Given the description of an element on the screen output the (x, y) to click on. 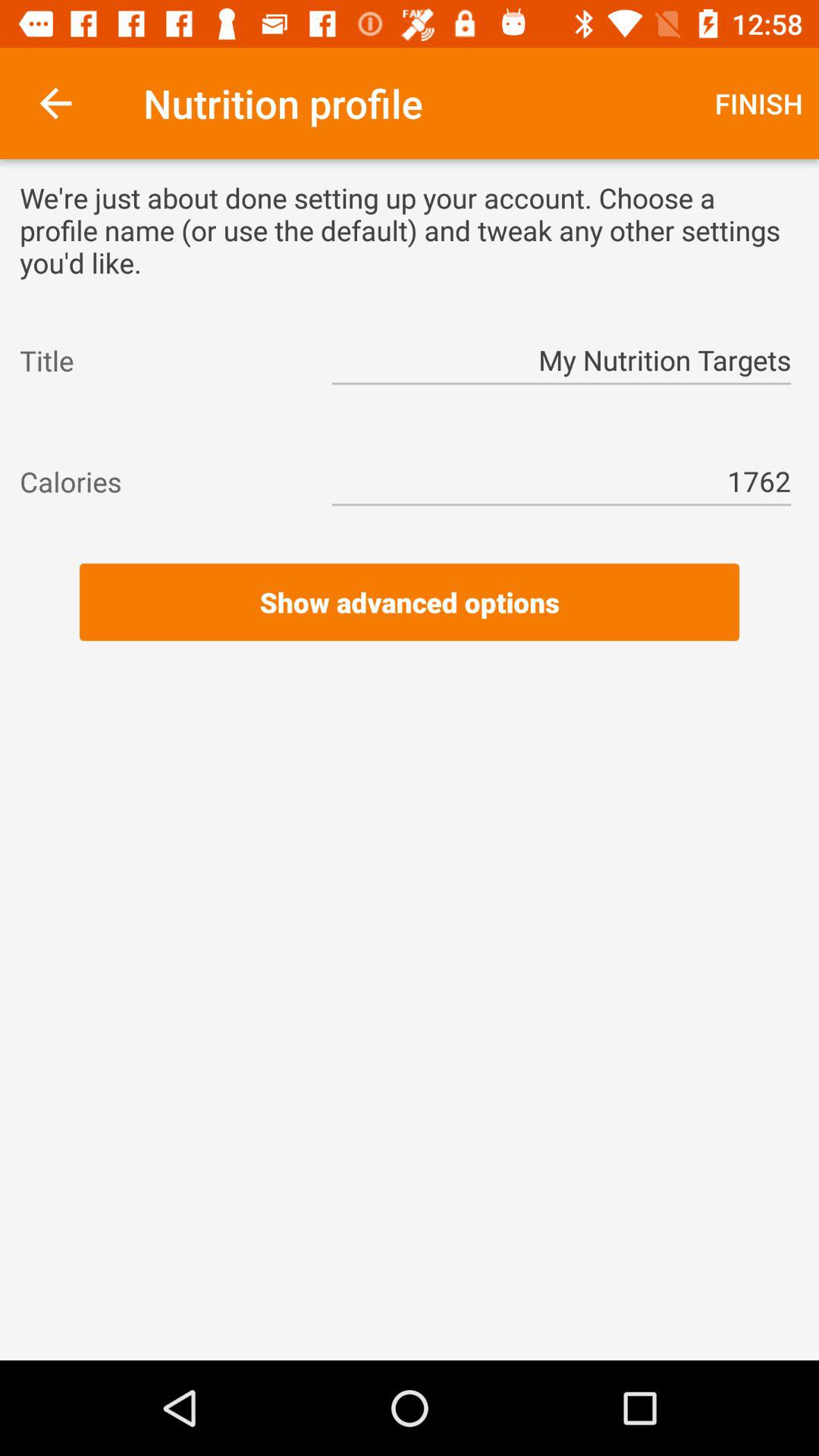
turn off icon below the my nutrition targets item (409, 421)
